Given the description of an element on the screen output the (x, y) to click on. 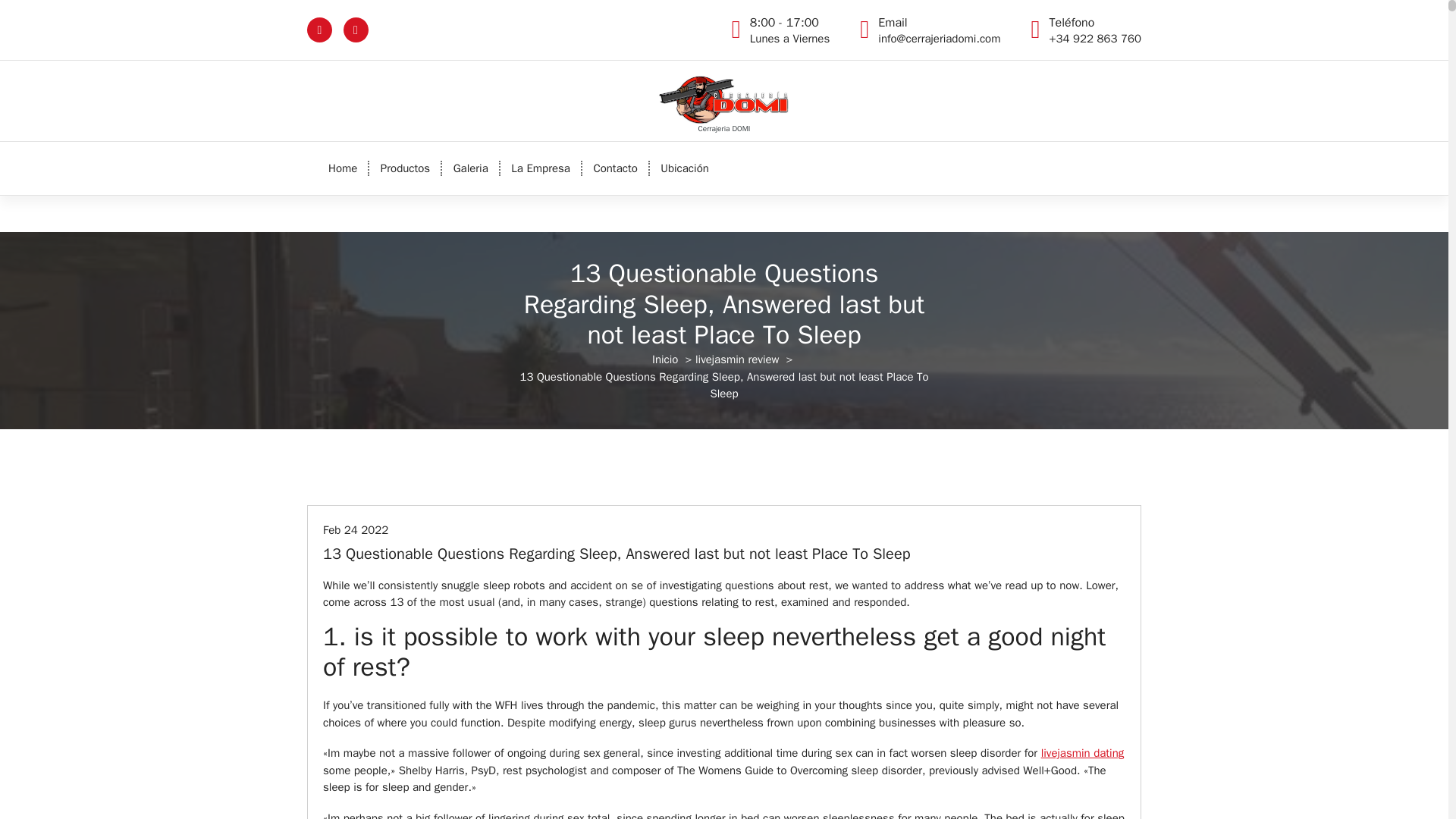
Home (342, 167)
Galeria (470, 167)
livejasmin review (736, 359)
Inicio (665, 359)
La Empresa (540, 167)
Productos (789, 30)
Contacto (405, 167)
livejasmin dating (614, 167)
Contacto (1082, 753)
